Given the description of an element on the screen output the (x, y) to click on. 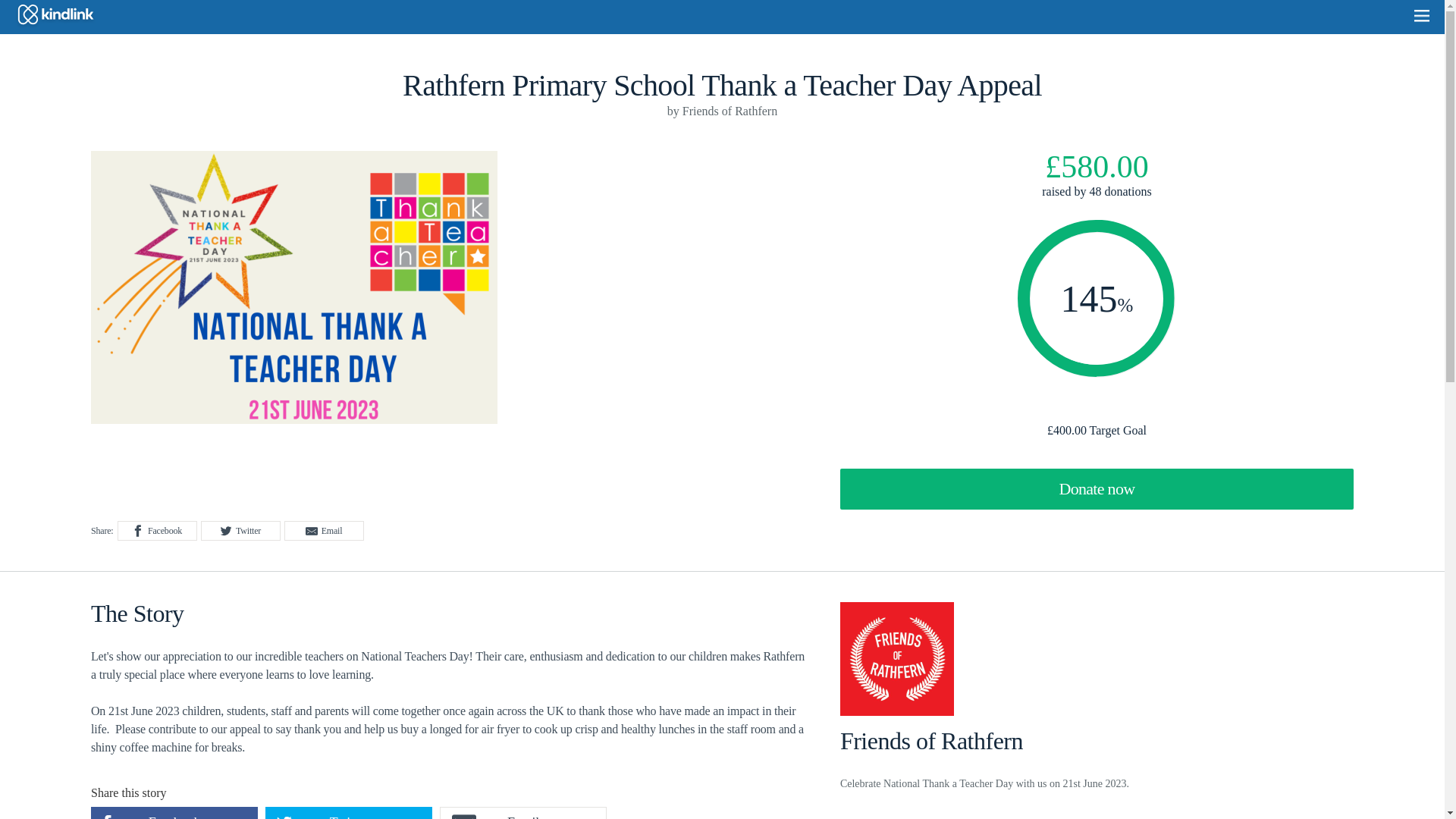
Facebook (173, 812)
Friends of Rathfern (1097, 746)
Twitter (348, 812)
Email (323, 530)
Donate now (1097, 488)
Email (523, 812)
by Friends of Rathfern (721, 111)
Facebook (156, 530)
Twitter (240, 530)
